Given the description of an element on the screen output the (x, y) to click on. 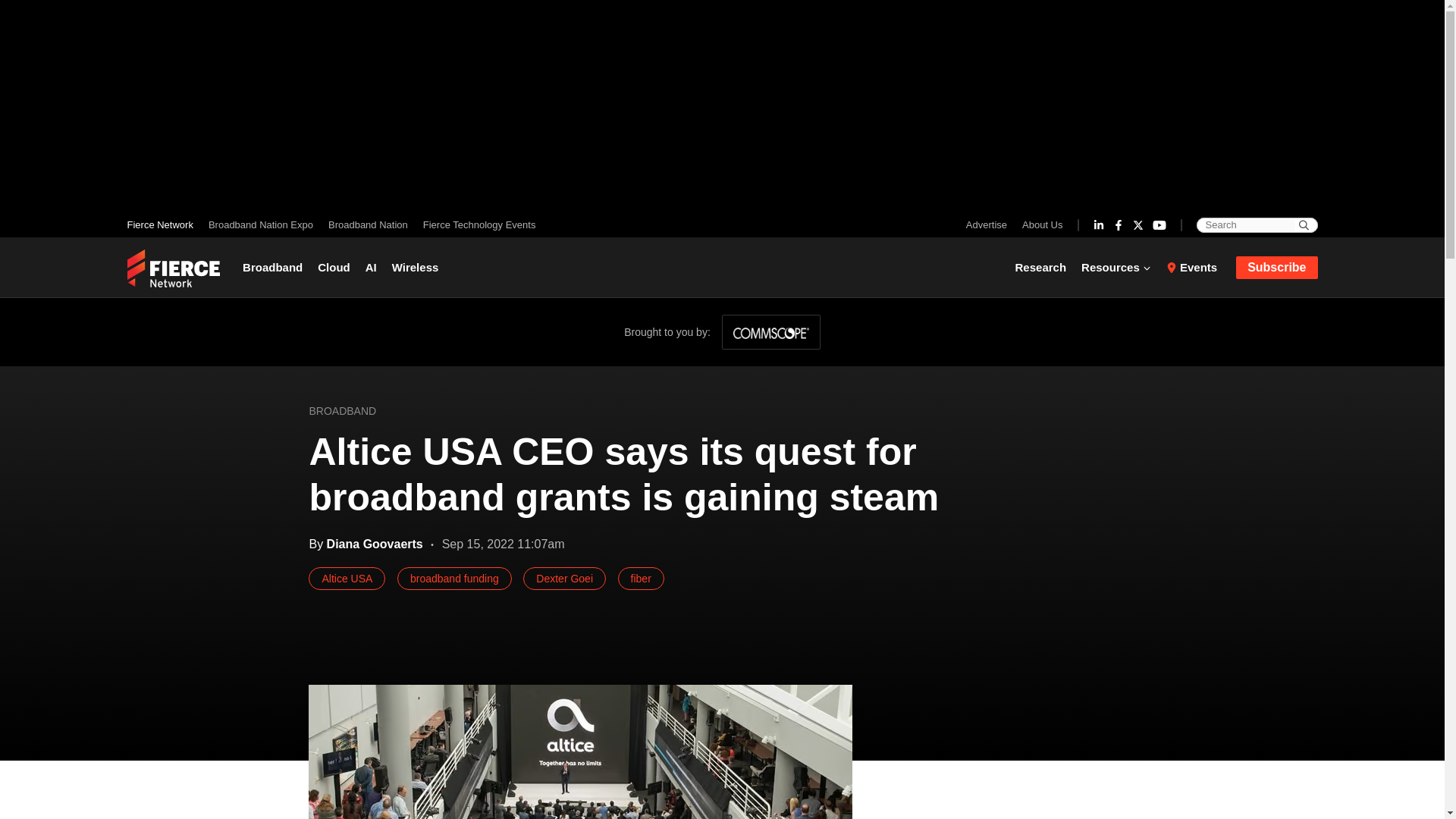
Research (1044, 266)
Advertise (990, 225)
Broadband Nation (367, 225)
About Us (1038, 225)
Resources (1116, 266)
Fierce Network (164, 225)
Broadband (276, 266)
Broadband Nation Expo (260, 225)
Wireless (415, 266)
Subscribe (1276, 267)
Cloud (334, 266)
Fierce Technology Events (474, 225)
AI (371, 266)
